Given the description of an element on the screen output the (x, y) to click on. 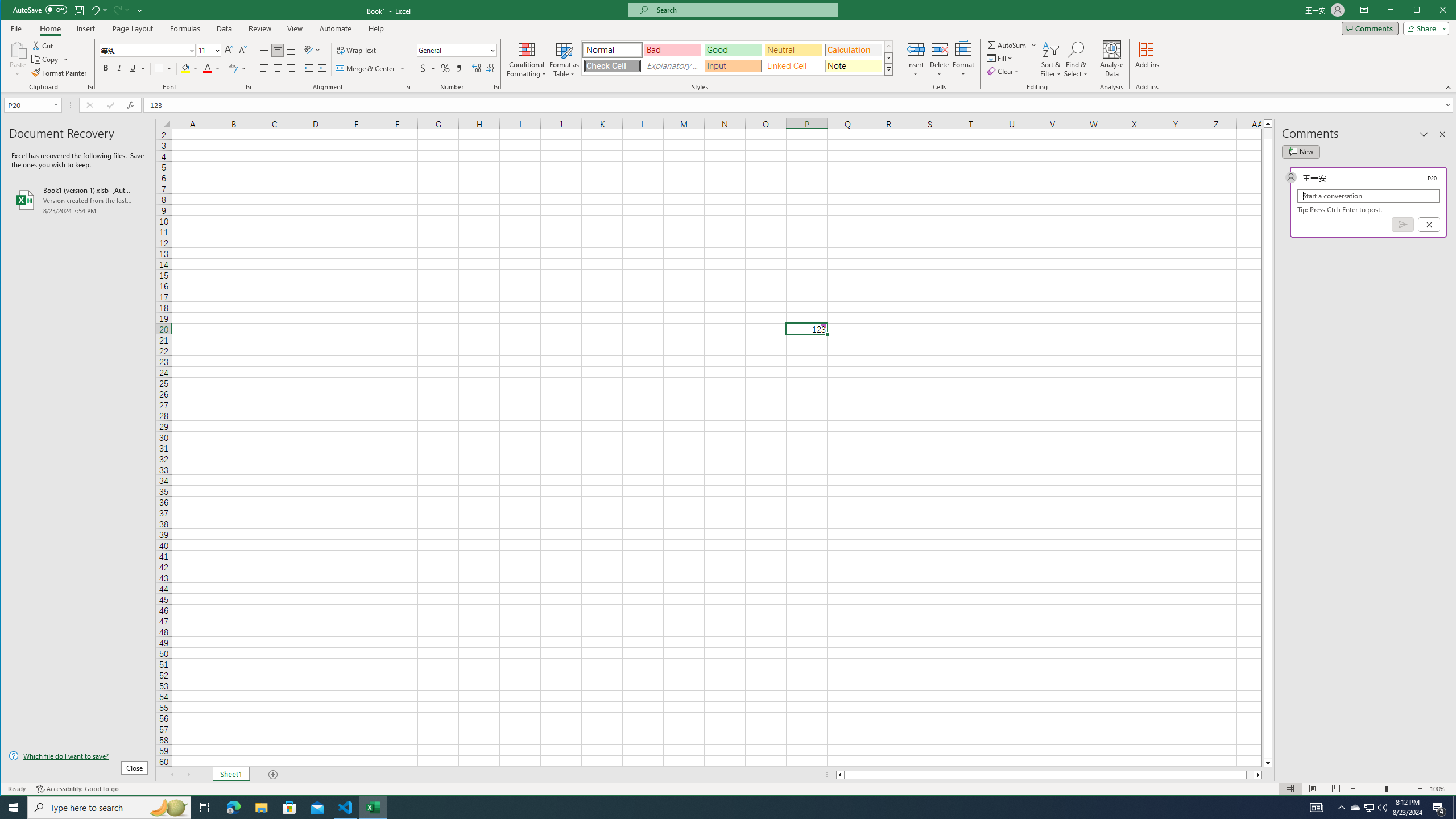
Cell Styles (887, 69)
Search highlights icon opens search home window (167, 807)
Bad (672, 49)
Decrease Indent (308, 68)
Show Phonetic Field (237, 68)
Accounting Number Format (427, 68)
Clear (1004, 70)
Align Right (291, 68)
Neutral (793, 49)
Cut (42, 45)
Bottom Border (158, 68)
Format Cell Number (496, 86)
Underline (132, 68)
Conditional Formatting (526, 59)
